Given the description of an element on the screen output the (x, y) to click on. 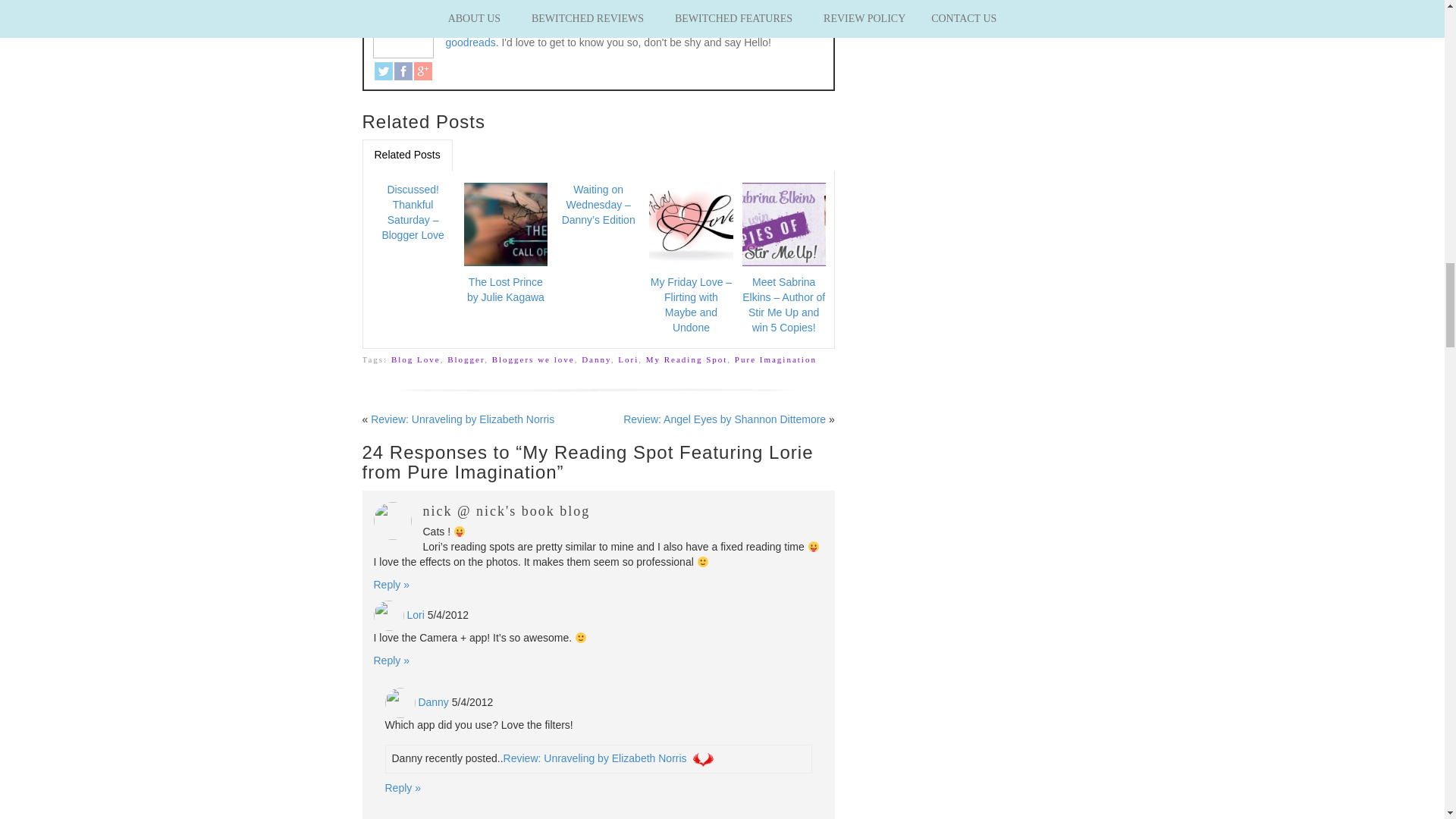
Facebook (403, 71)
Twitter (383, 71)
